Given the description of an element on the screen output the (x, y) to click on. 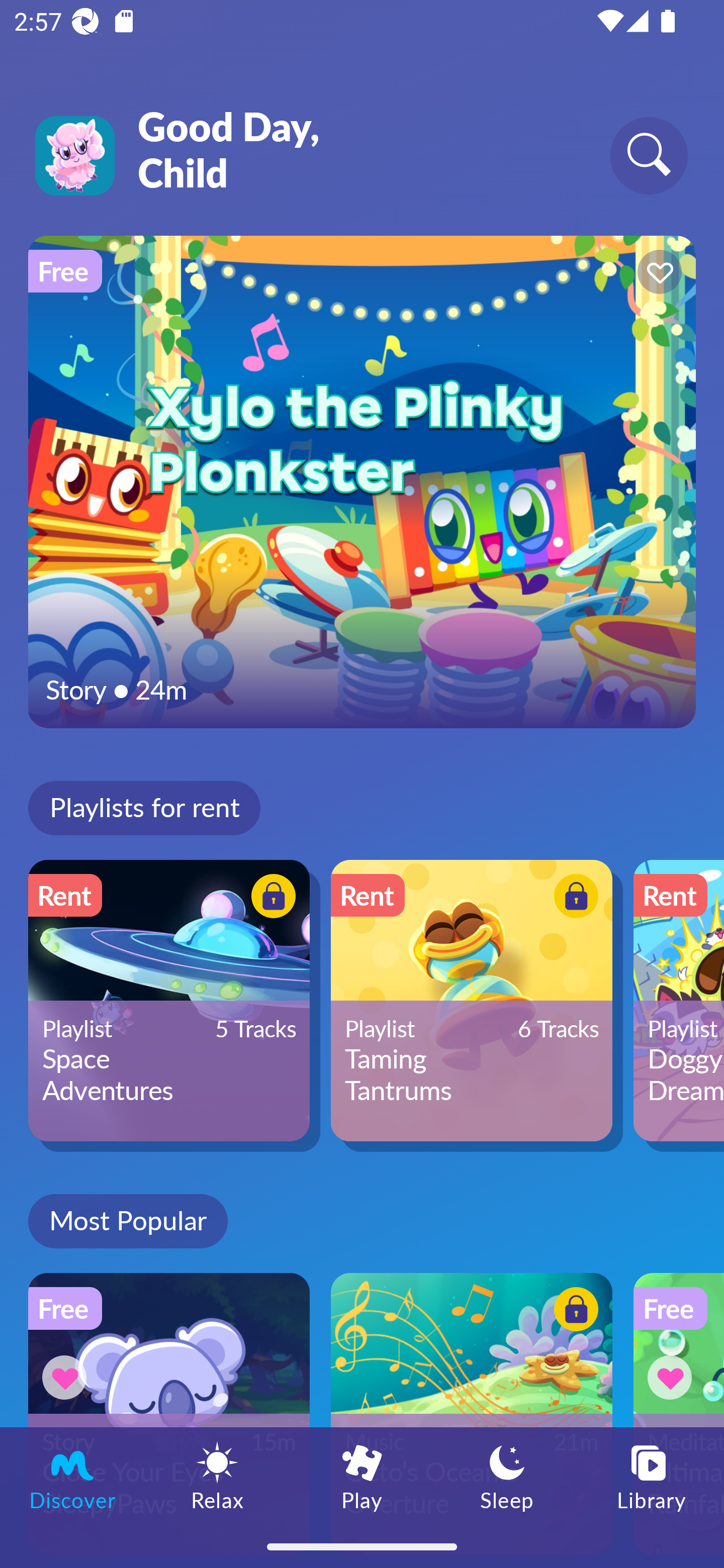
Search (648, 154)
Featured Content Free Button Story ● 24m (361, 481)
Button (656, 274)
Button (269, 898)
Button (573, 898)
Button (573, 1312)
Button (67, 1377)
Button (672, 1377)
Relax (216, 1475)
Play (361, 1475)
Sleep (506, 1475)
Library (651, 1475)
